Given the description of an element on the screen output the (x, y) to click on. 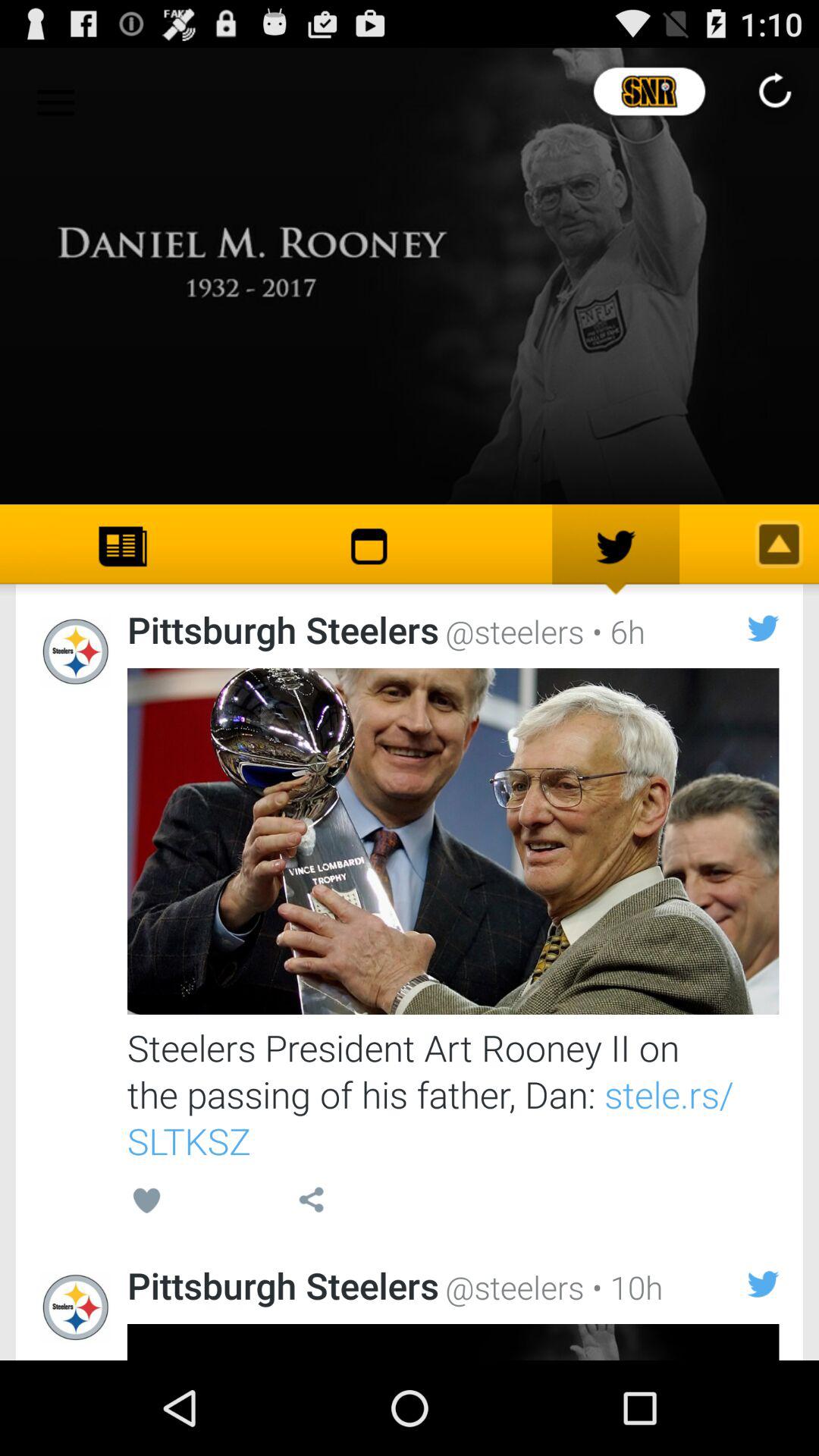
scroll to steelers president art item (453, 1094)
